Given the description of an element on the screen output the (x, y) to click on. 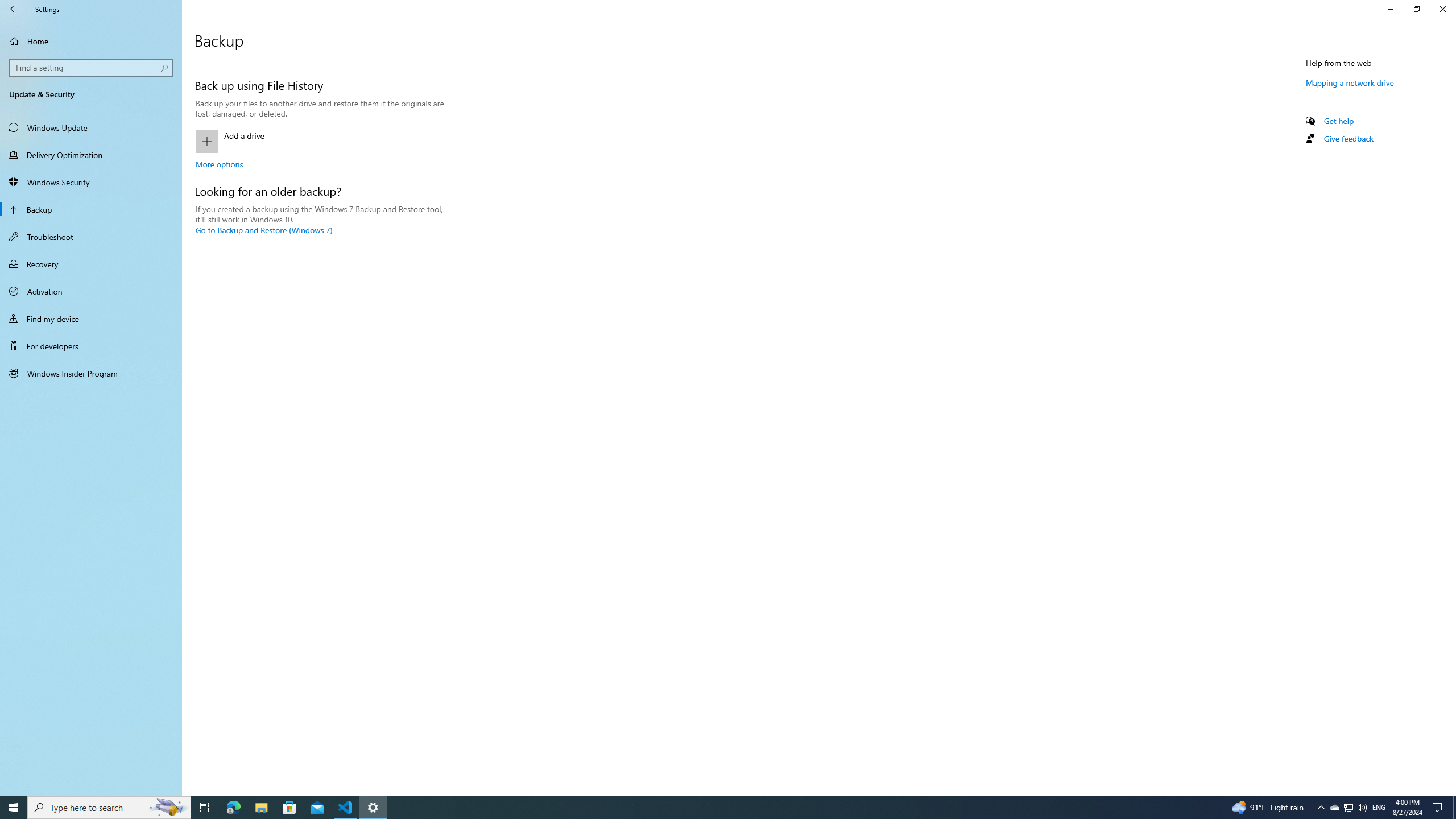
For developers (91, 345)
Action Center, No new notifications (1439, 807)
Close Settings (1442, 9)
Windows Insider Program (91, 372)
Q2790: 100% (1361, 807)
Minimize Settings (1390, 9)
Back (13, 9)
Troubleshoot (91, 236)
Start (13, 807)
Recovery (91, 263)
Give feedback (1348, 138)
Windows Update (91, 126)
Microsoft Store (289, 807)
Task View (204, 807)
